Given the description of an element on the screen output the (x, y) to click on. 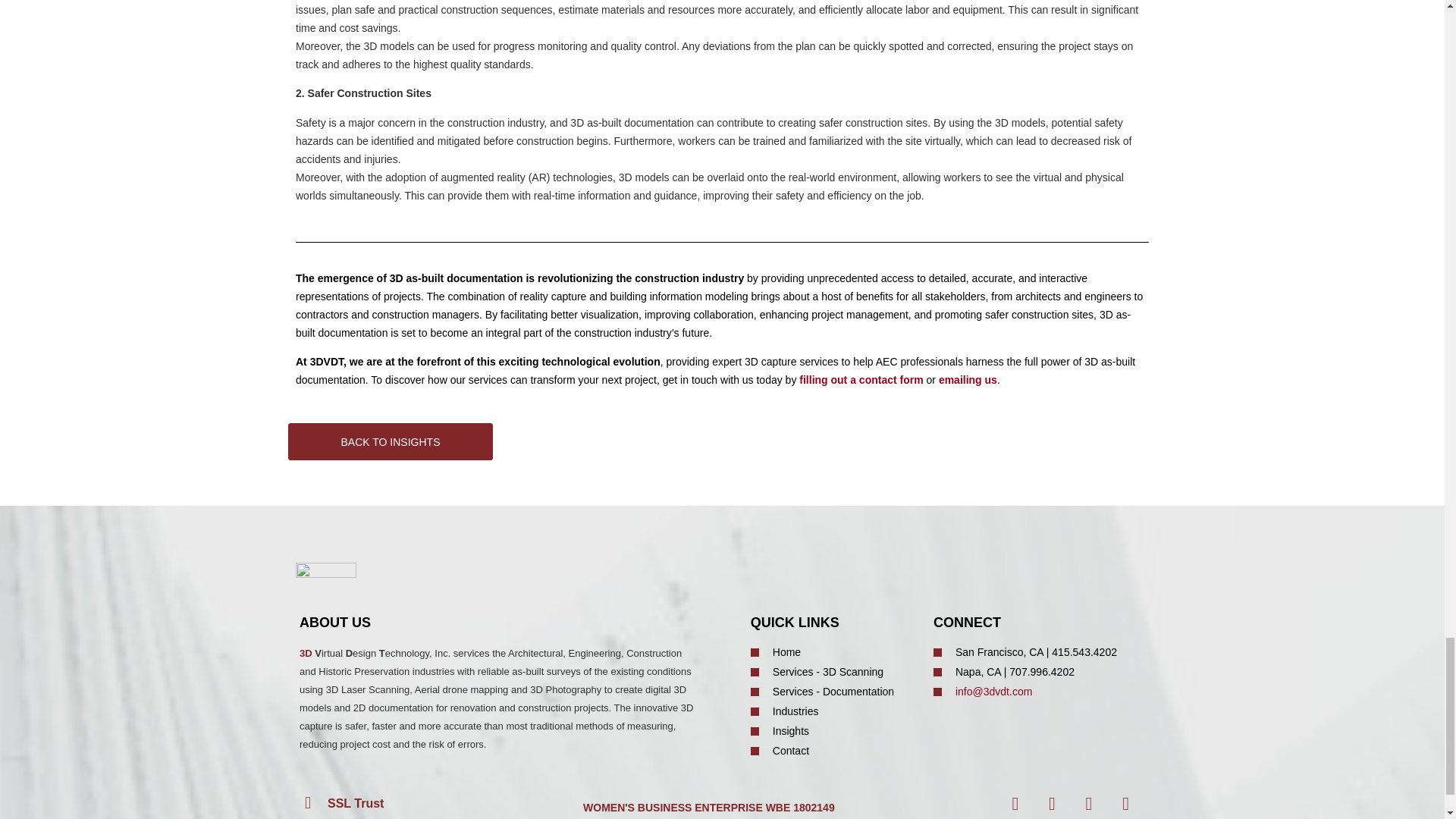
Contact (834, 750)
Insights (834, 731)
Home (834, 652)
Industries (834, 711)
BACK TO INSIGHTS (390, 441)
filling out a contact form (861, 379)
Services - 3D Scanning (834, 672)
emailing us (968, 379)
Services - Documentation (834, 691)
